Given the description of an element on the screen output the (x, y) to click on. 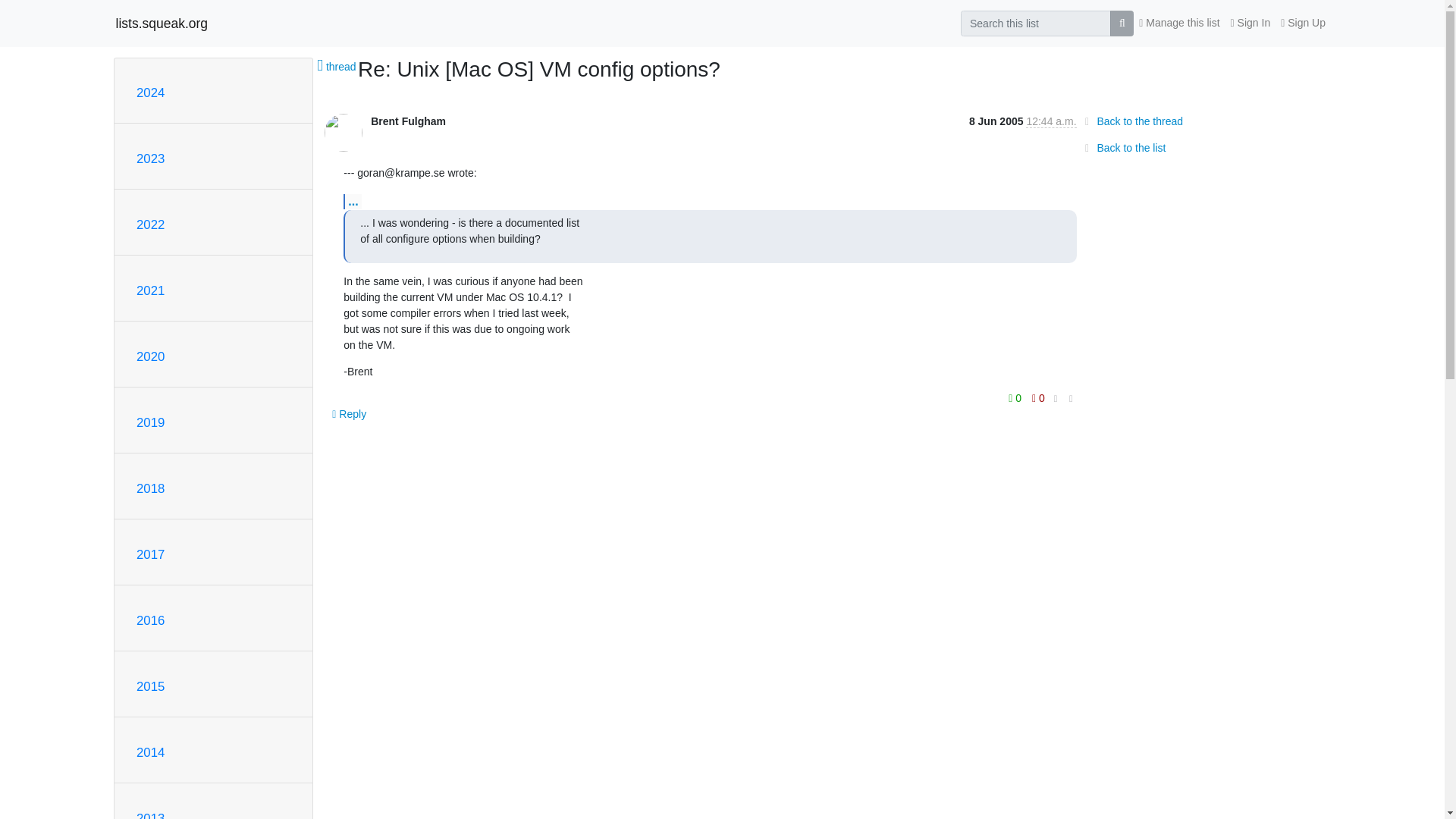
2022 (150, 224)
You must be logged-in to vote. (1015, 397)
Sign Up (1302, 22)
2024 (150, 92)
Sender's time: June 7, 2005, 3:44 p.m. (1050, 121)
Manage this list (1179, 22)
lists.squeak.org (161, 22)
2023 (150, 158)
Sign in to reply online (349, 413)
Sign In (1250, 22)
